Given the description of an element on the screen output the (x, y) to click on. 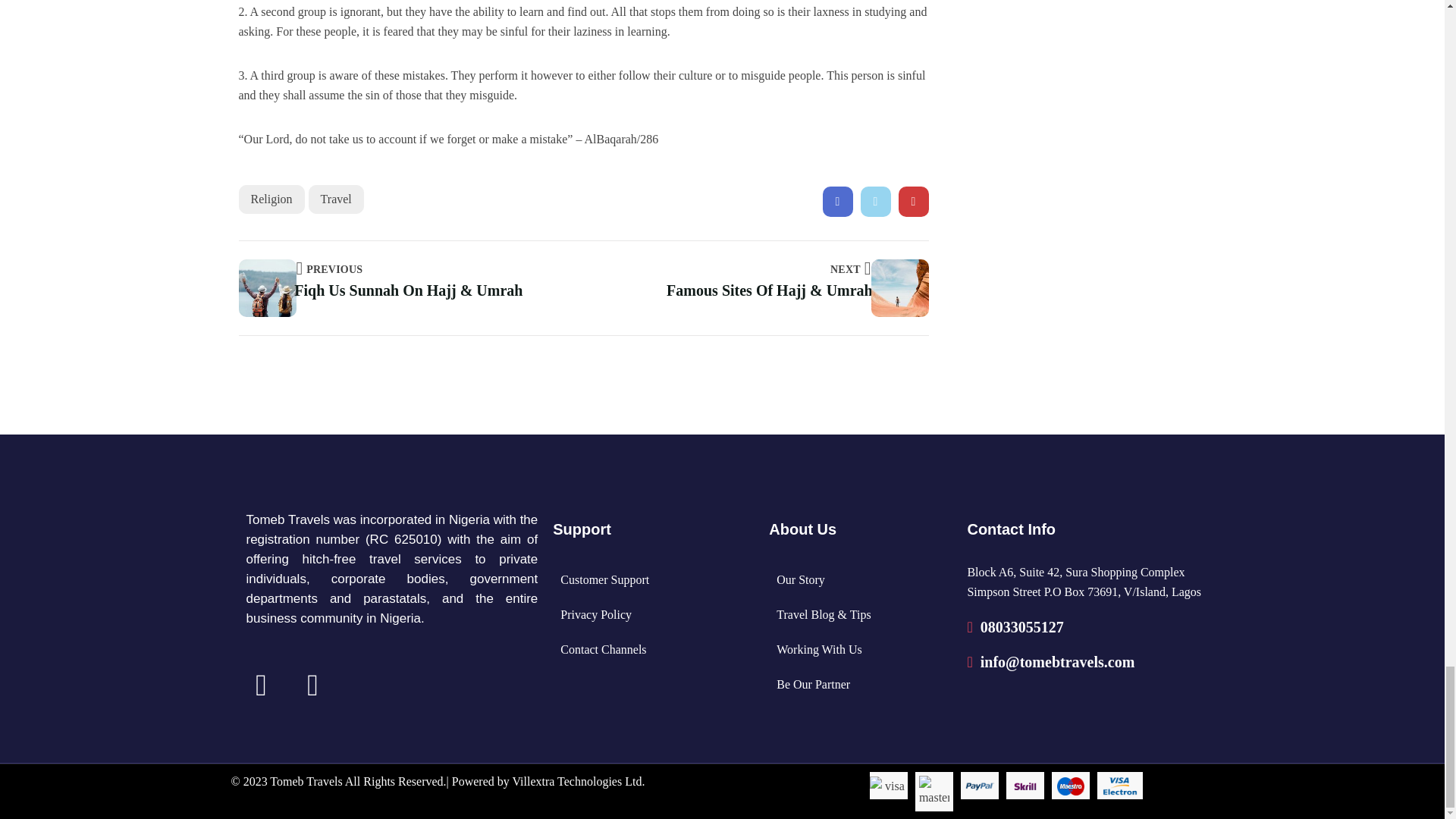
mastercard (933, 791)
Customer Support (604, 579)
Common Mistakes In Hajj (836, 201)
Privacy Policy (595, 614)
Travel (336, 199)
Our Story (800, 579)
Religion (271, 199)
Contact Channels (603, 649)
Common Mistakes In Hajj (874, 201)
Common Mistakes In Hajj (913, 201)
visa (888, 785)
